Given the description of an element on the screen output the (x, y) to click on. 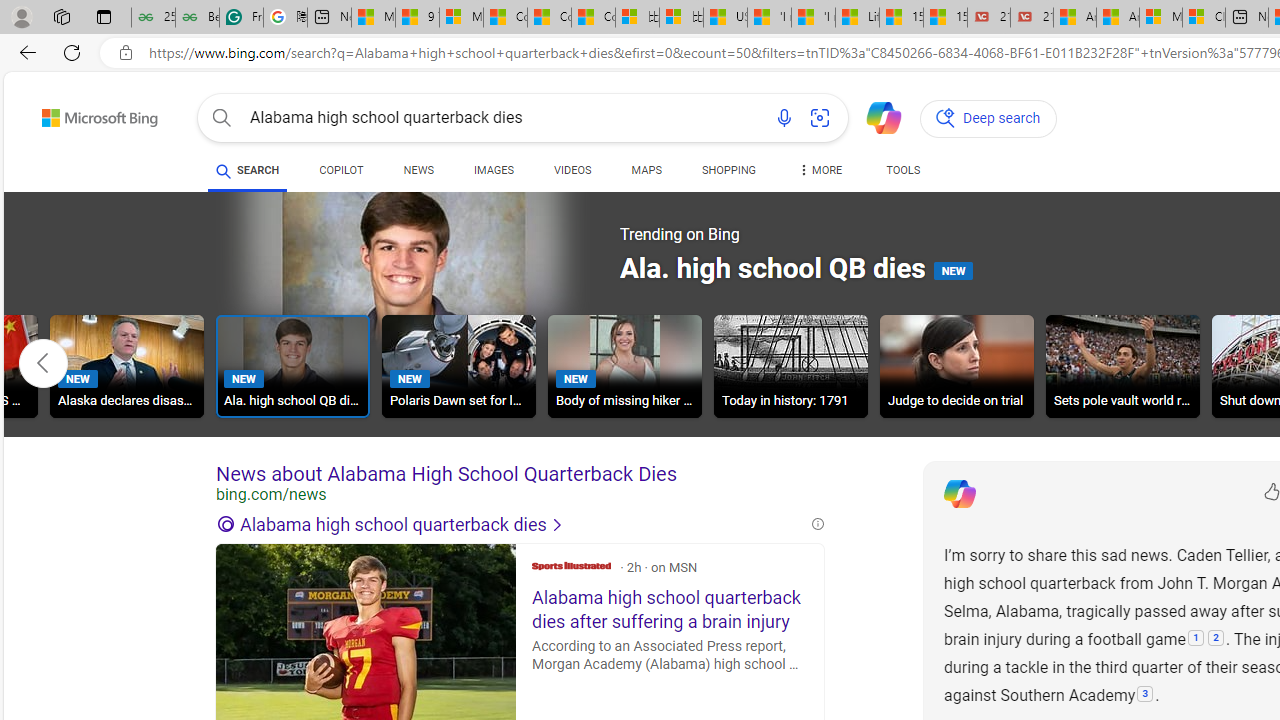
Search using an image (820, 117)
2:  (1216, 639)
Ala. high school QB dies NEW (292, 365)
Judge to decide on trial (957, 365)
MAPS (646, 173)
USA TODAY - MSN (725, 17)
